Given the description of an element on the screen output the (x, y) to click on. 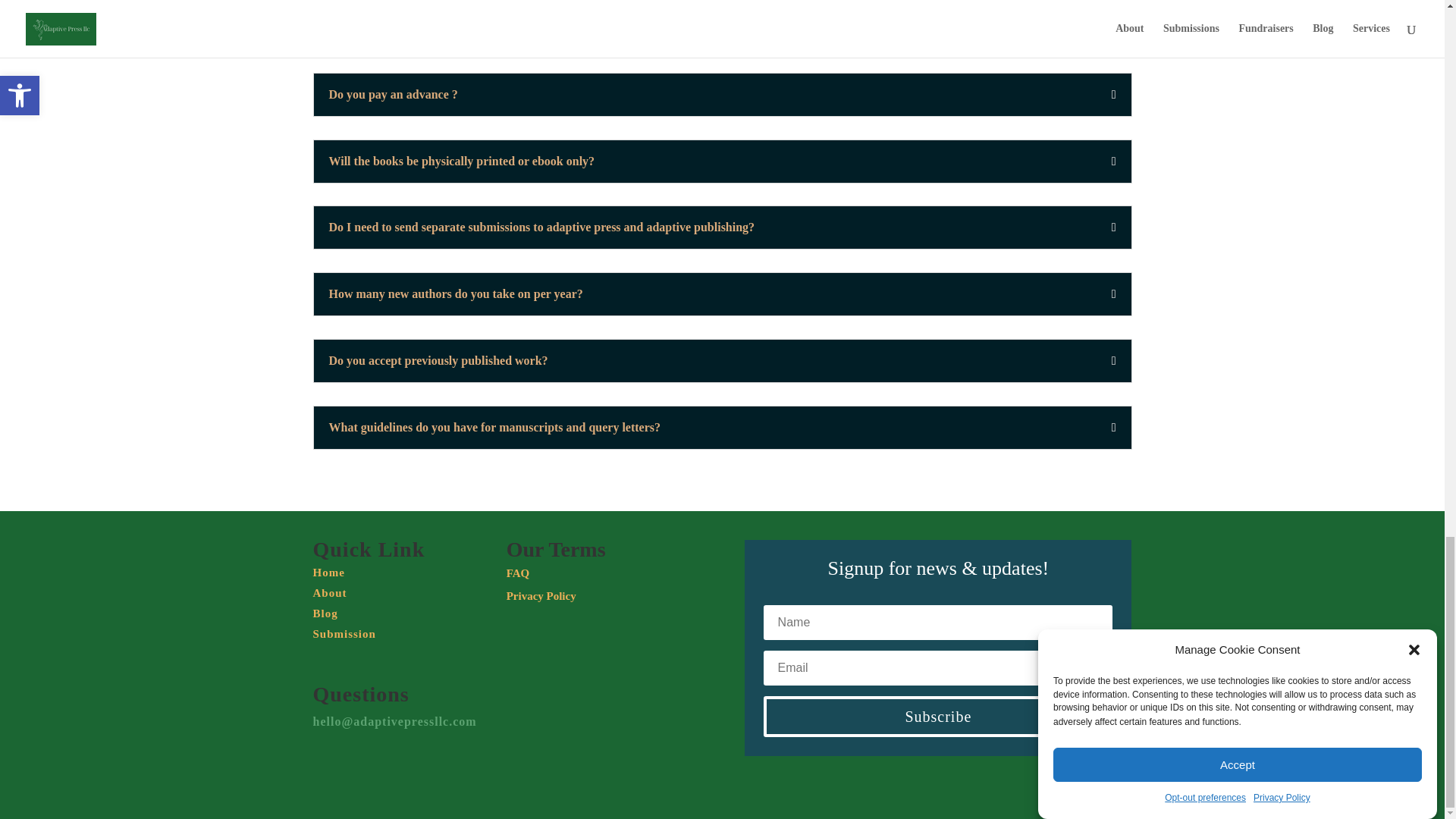
Home (328, 572)
Blog (325, 613)
About (329, 592)
